Given the description of an element on the screen output the (x, y) to click on. 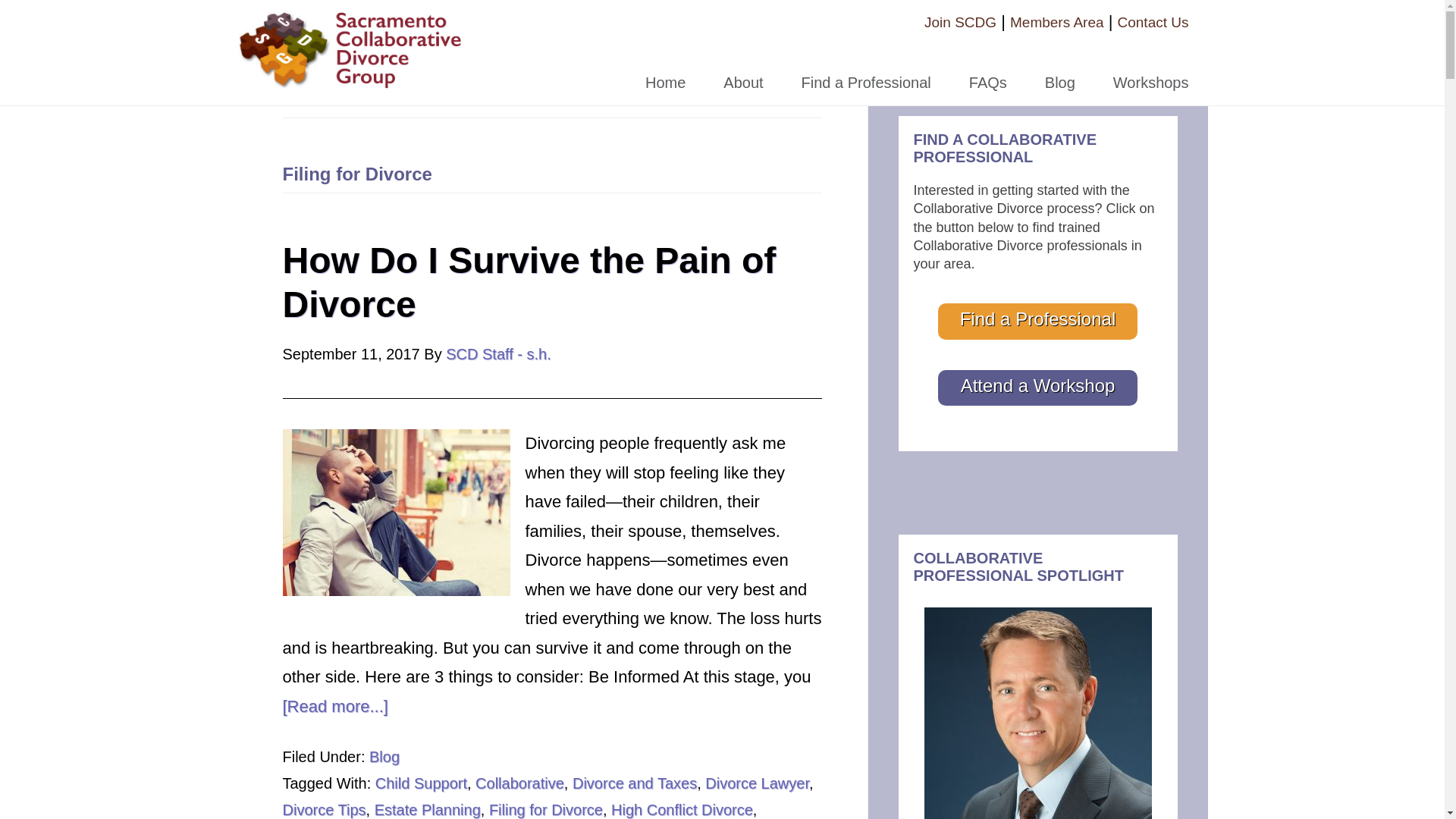
Join SCDG (959, 22)
Home (665, 70)
Christopher F. Whitaker (1036, 713)
Find a Professional (866, 70)
FAQs (988, 70)
Contact Us (1153, 22)
About (742, 70)
Members Area (1056, 22)
SACRAMENTO COLLABORATIVE DIVORCE (349, 47)
